Given the description of an element on the screen output the (x, y) to click on. 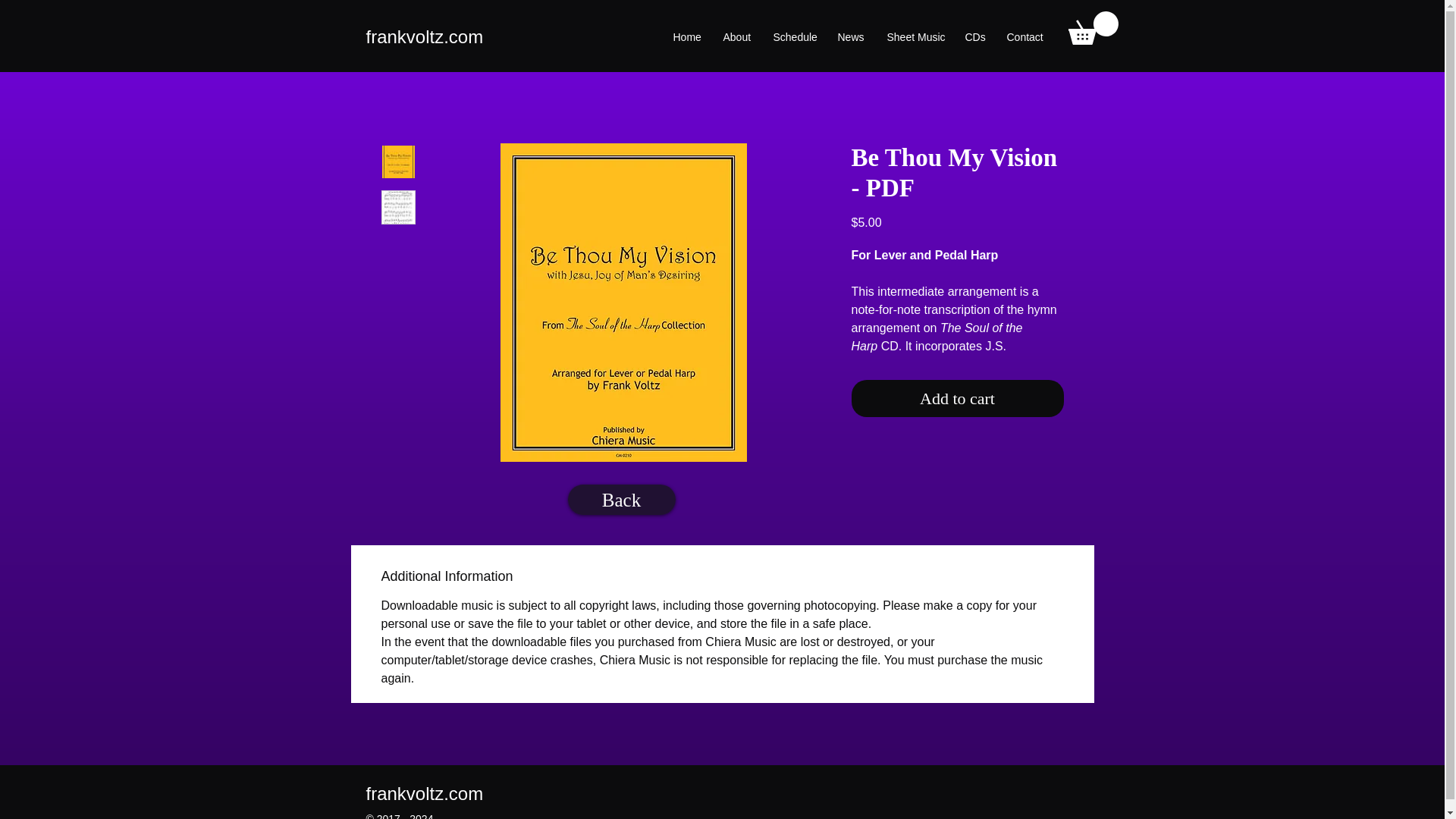
About (736, 36)
News (850, 36)
Home (686, 36)
Contact (1023, 36)
Back (621, 499)
Schedule (793, 36)
Add to cart (956, 398)
Sheet Music (914, 36)
CDs (974, 36)
